Given the description of an element on the screen output the (x, y) to click on. 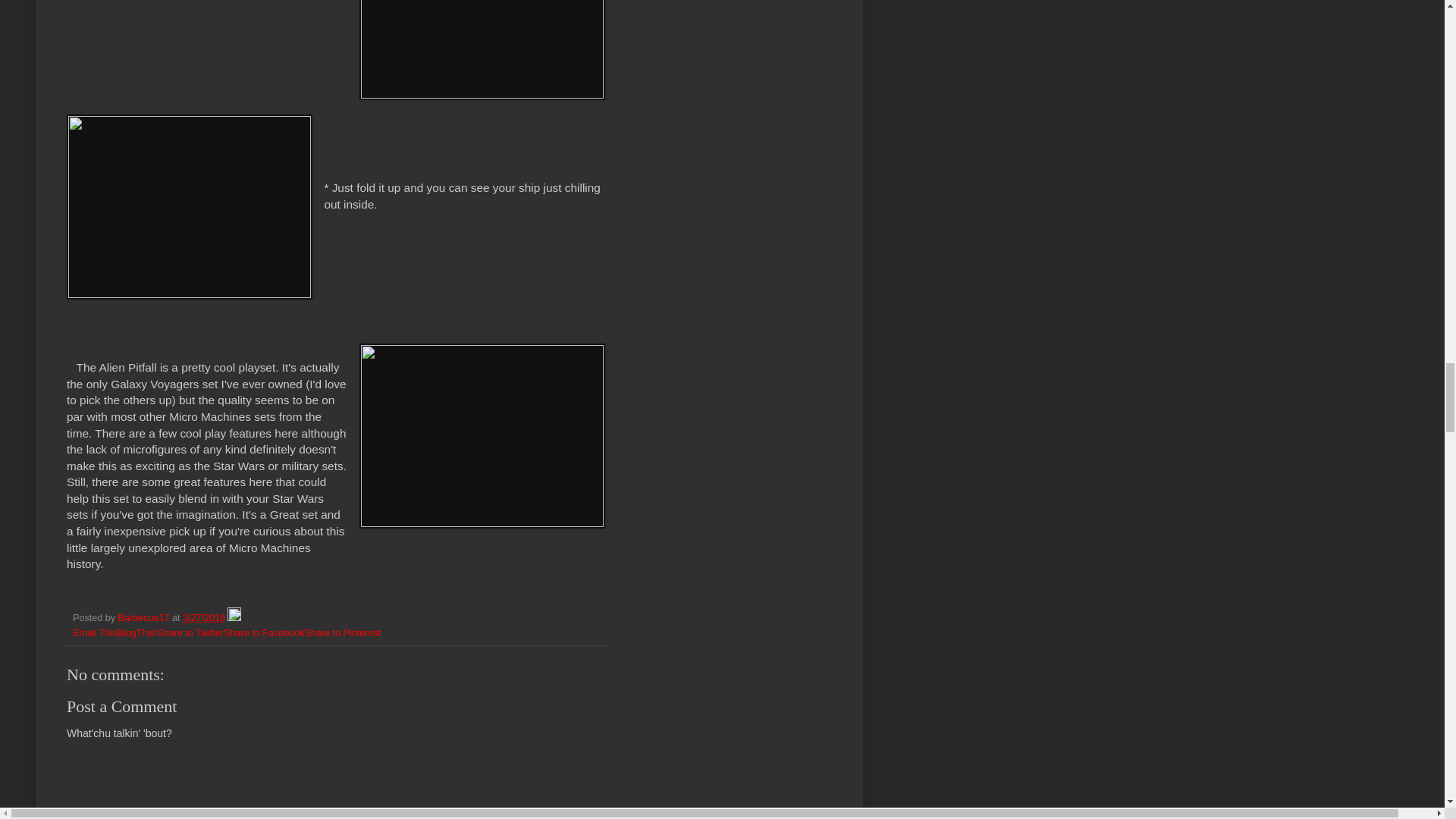
Edit Post (234, 617)
author profile (144, 617)
Share to Pinterest (342, 633)
Share to Twitter (190, 633)
BlogThis! (137, 633)
permanent link (204, 617)
Email This (94, 633)
Share to Facebook (264, 633)
